Given the description of an element on the screen output the (x, y) to click on. 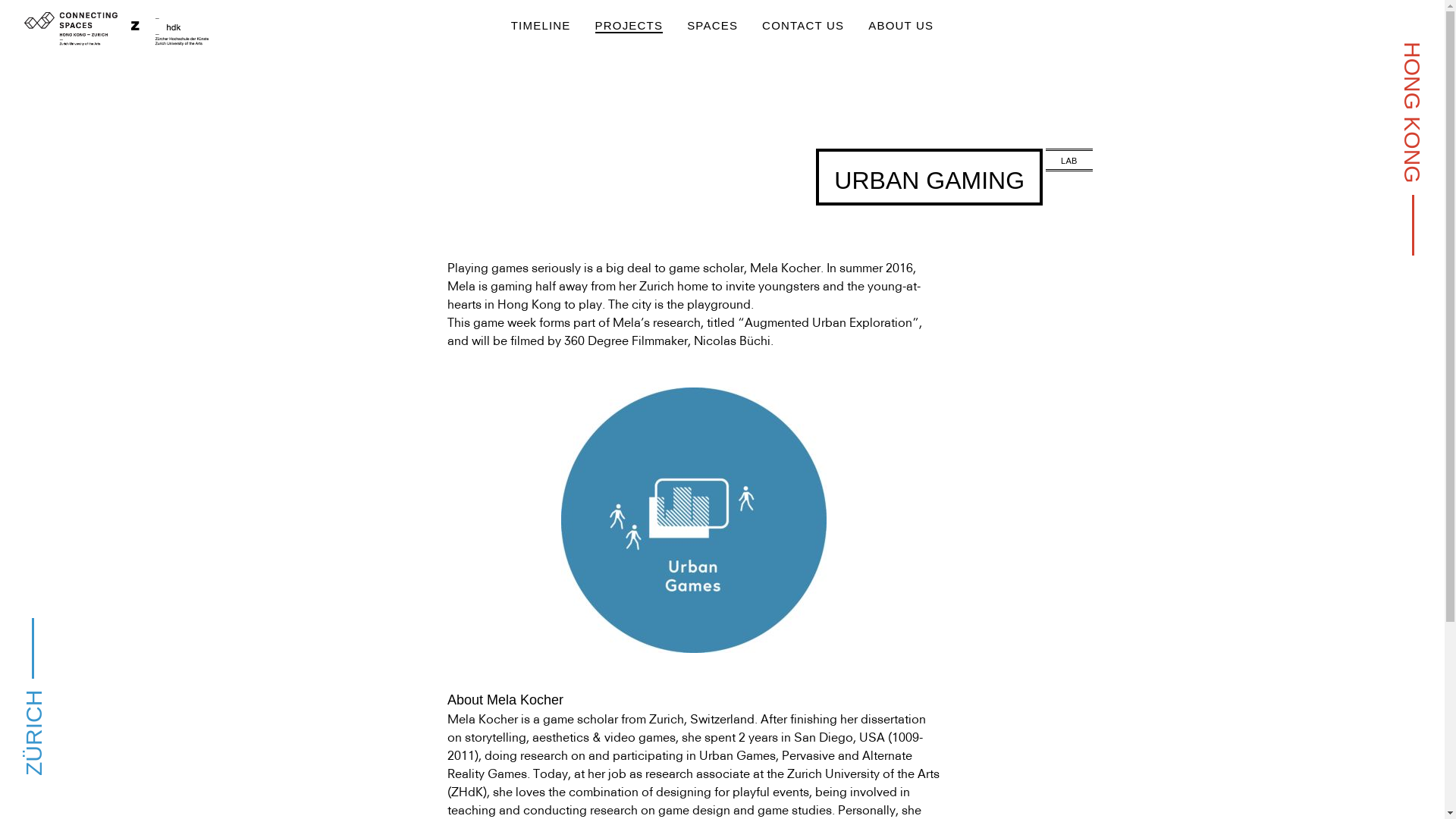
PROJECTS Element type: text (629, 25)
CONTACT US Element type: text (803, 25)
LAB Element type: text (1068, 159)
TIMELINE Element type: text (541, 25)
ABOUT US Element type: text (900, 25)
SPACES Element type: text (712, 25)
